Given the description of an element on the screen output the (x, y) to click on. 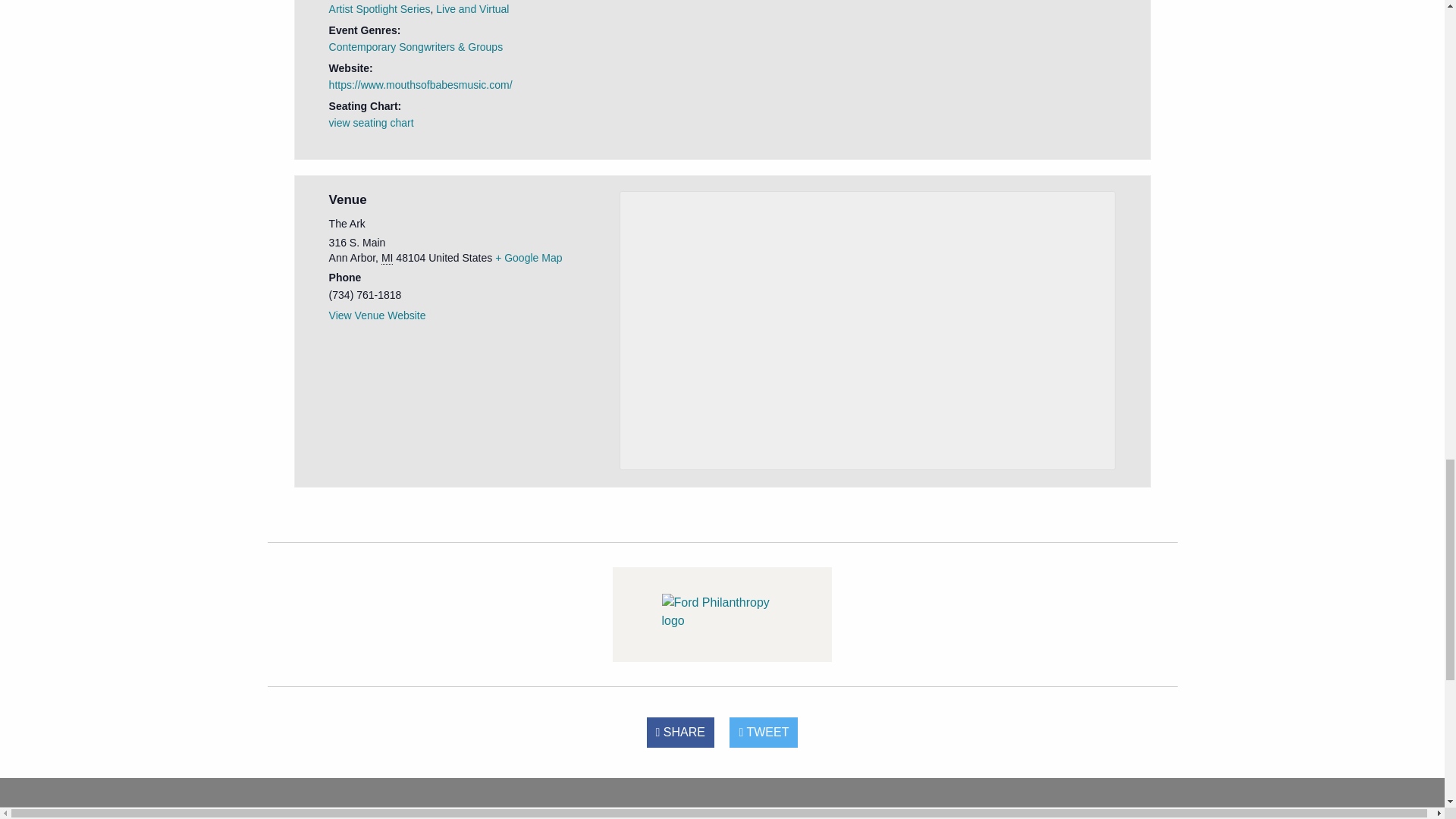
Click to view a Google Map (528, 257)
Google maps iframe displaying the address to The Ark (867, 328)
Michigan (387, 257)
